Given the description of an element on the screen output the (x, y) to click on. 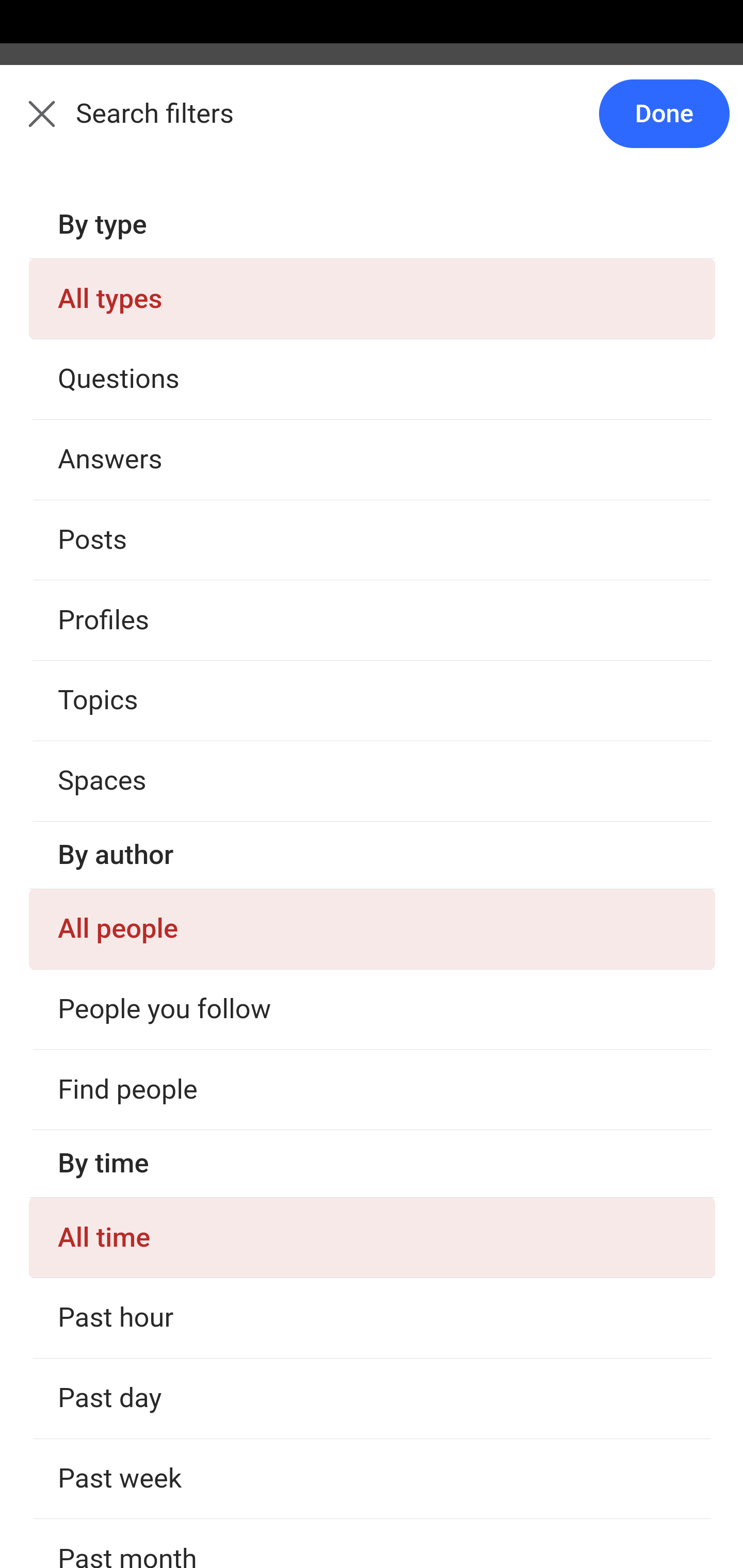
Back Search (371, 125)
What is blockchain technology? (372, 457)
Answer (125, 563)
Answer (125, 848)
Answer (125, 1483)
